Given the description of an element on the screen output the (x, y) to click on. 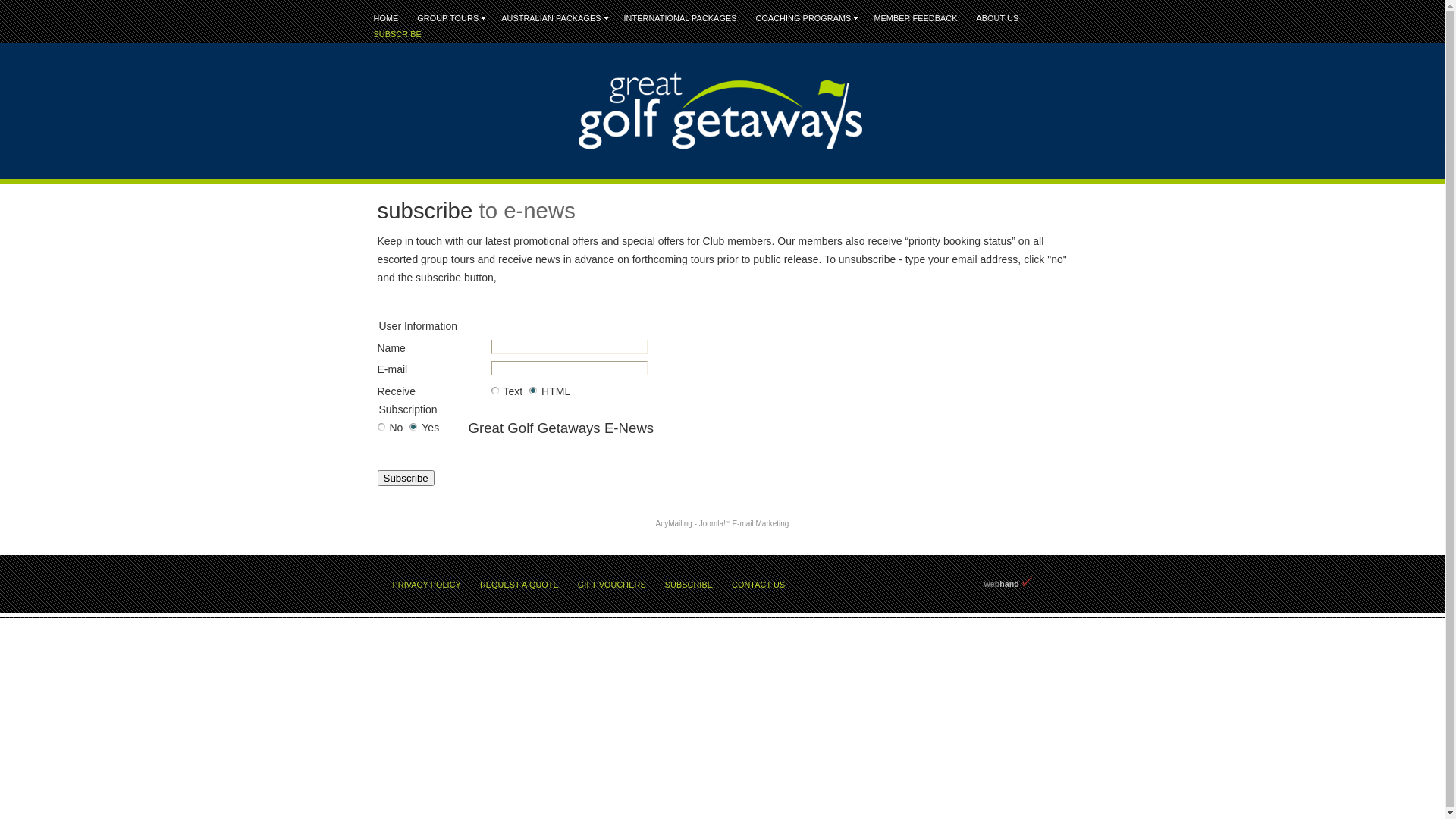
HOME Element type: text (386, 18)
INTERNATIONAL PACKAGES Element type: text (680, 18)
PRIVACY POLICY Element type: text (425, 584)
GIFT VOUCHERS Element type: text (611, 584)
AcyMailing - Joomla!TM E-mail Marketing Element type: text (722, 523)
GROUP TOURS Element type: text (449, 18)
Subscribe Element type: text (405, 478)
AUSTRALIAN PACKAGES Element type: text (552, 18)
SUBSCRIBE Element type: text (397, 34)
COACHING PROGRAMS Element type: text (805, 18)
MEMBER FEEDBACK Element type: text (915, 18)
SUBSCRIBE Element type: text (688, 584)
CONTACT US Element type: text (758, 584)
REQUEST A QUOTE Element type: text (519, 584)
ABOUT US Element type: text (996, 18)
webhand Element type: text (1001, 583)
